Given the description of an element on the screen output the (x, y) to click on. 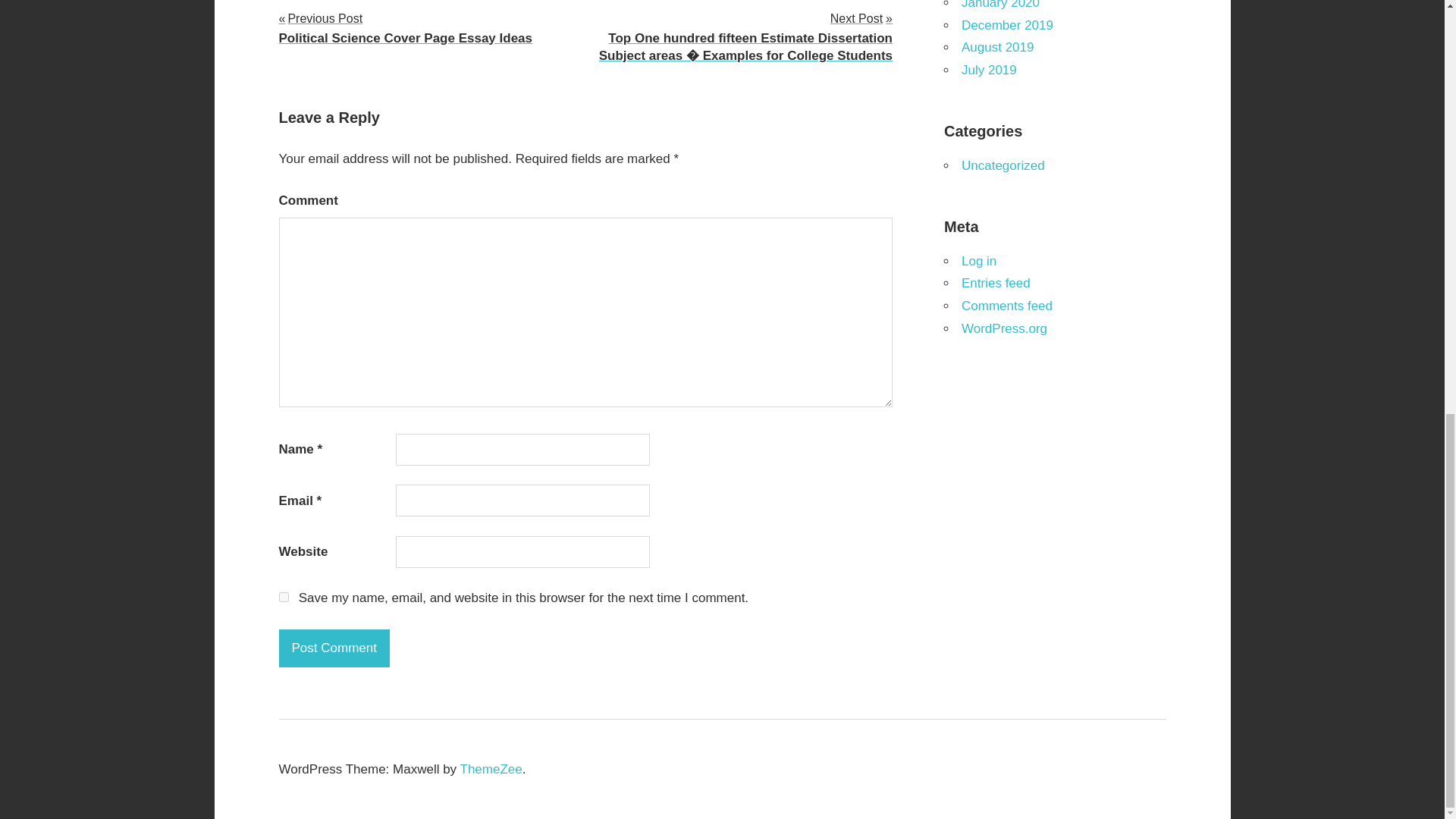
January 2020 (999, 4)
December 2019 (1006, 25)
July 2019 (988, 69)
Log in (977, 260)
Comments feed (1006, 305)
yes (405, 27)
WordPress.org (283, 596)
ThemeZee (1003, 328)
Post Comment (491, 769)
